Given the description of an element on the screen output the (x, y) to click on. 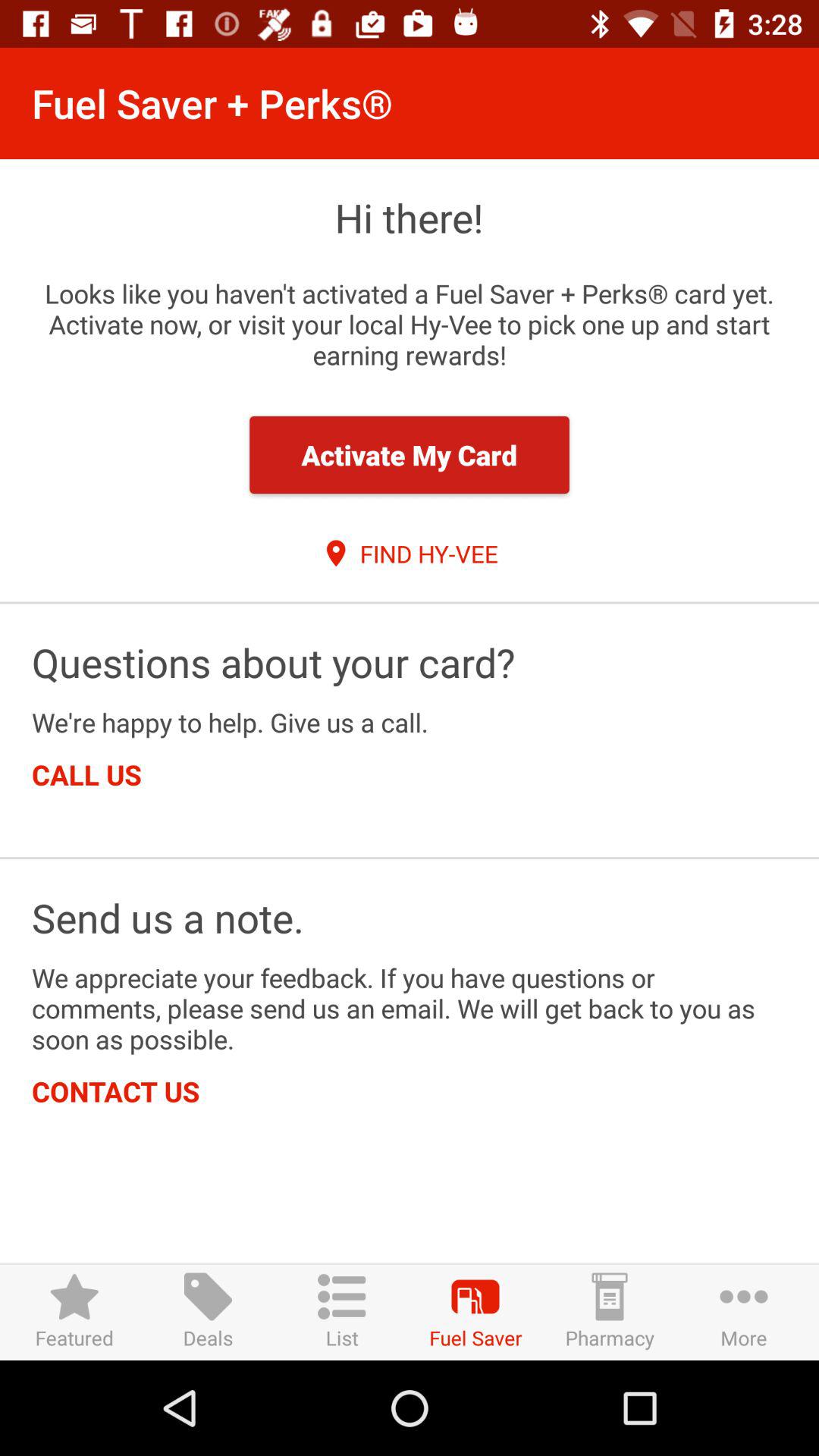
open the deals item (208, 1311)
